Given the description of an element on the screen output the (x, y) to click on. 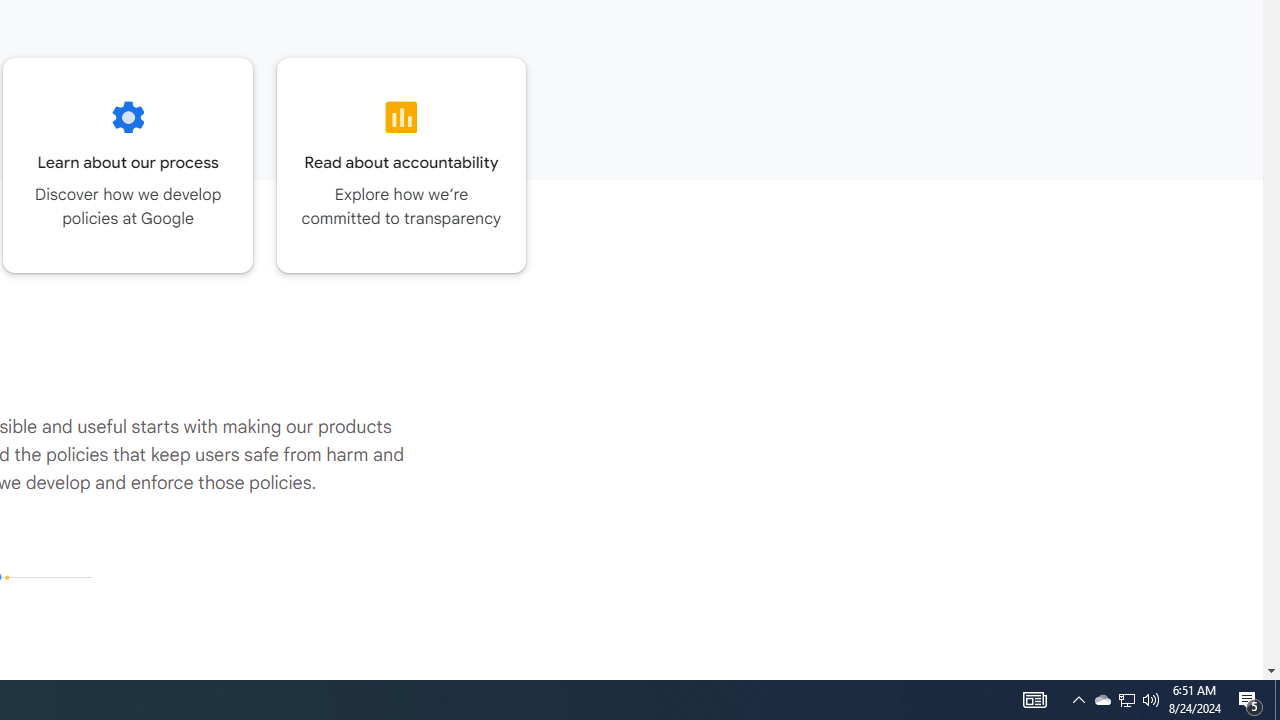
Go to the Accountability page (401, 165)
Go to the Our process page (127, 165)
